Given the description of an element on the screen output the (x, y) to click on. 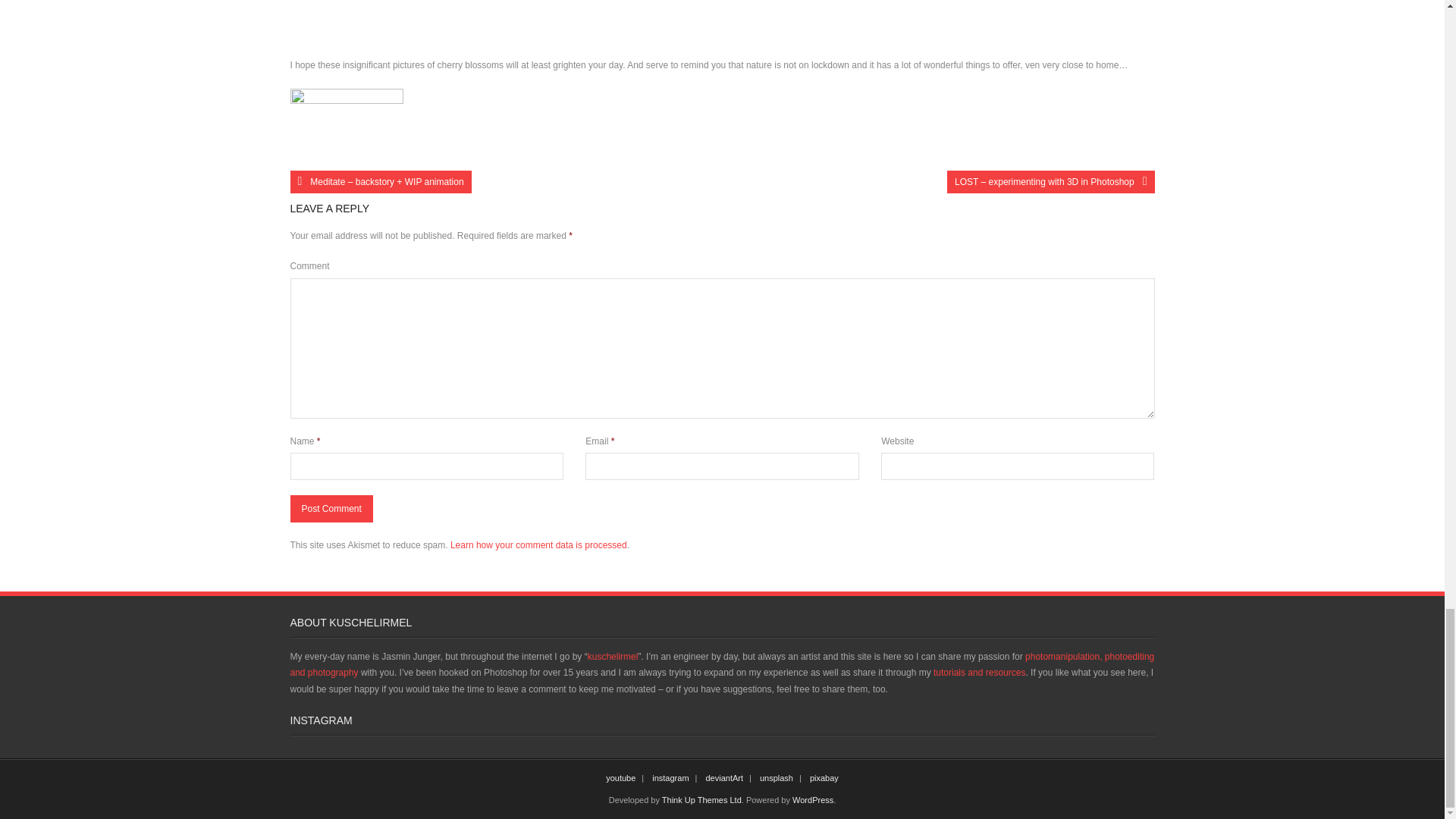
Post Comment (330, 508)
